Given the description of an element on the screen output the (x, y) to click on. 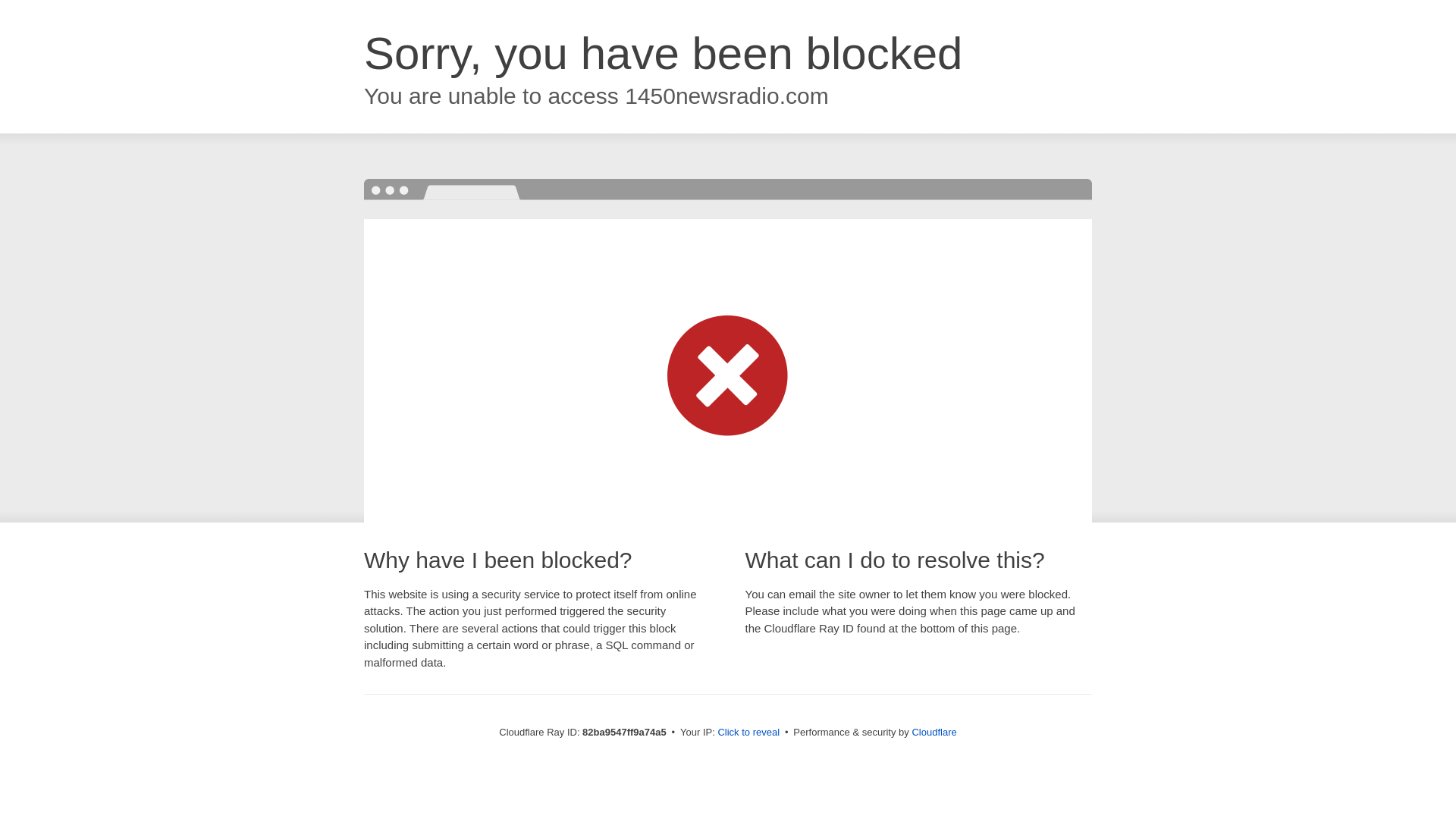
Click to reveal Element type: text (748, 732)
Cloudflare Element type: text (933, 731)
